Given the description of an element on the screen output the (x, y) to click on. 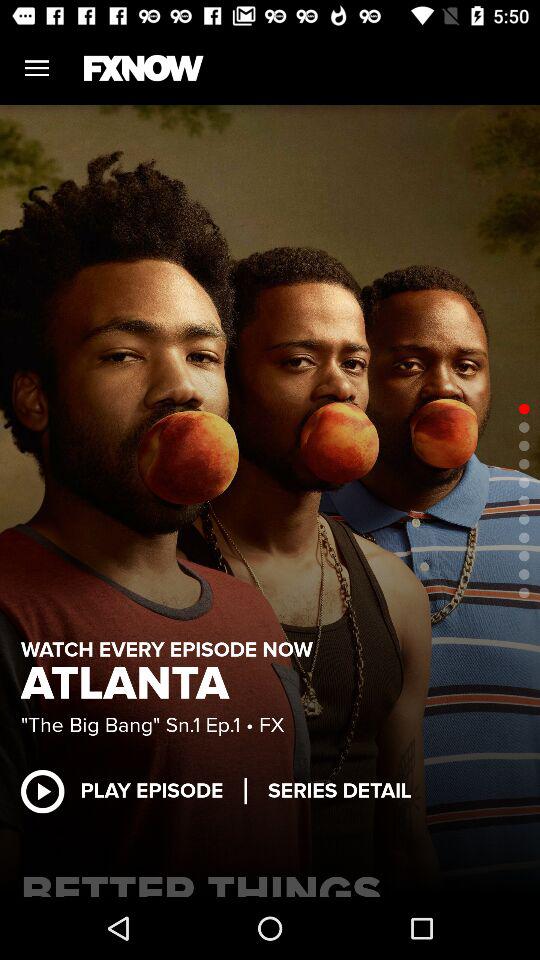
jump to series detail item (339, 790)
